Given the description of an element on the screen output the (x, y) to click on. 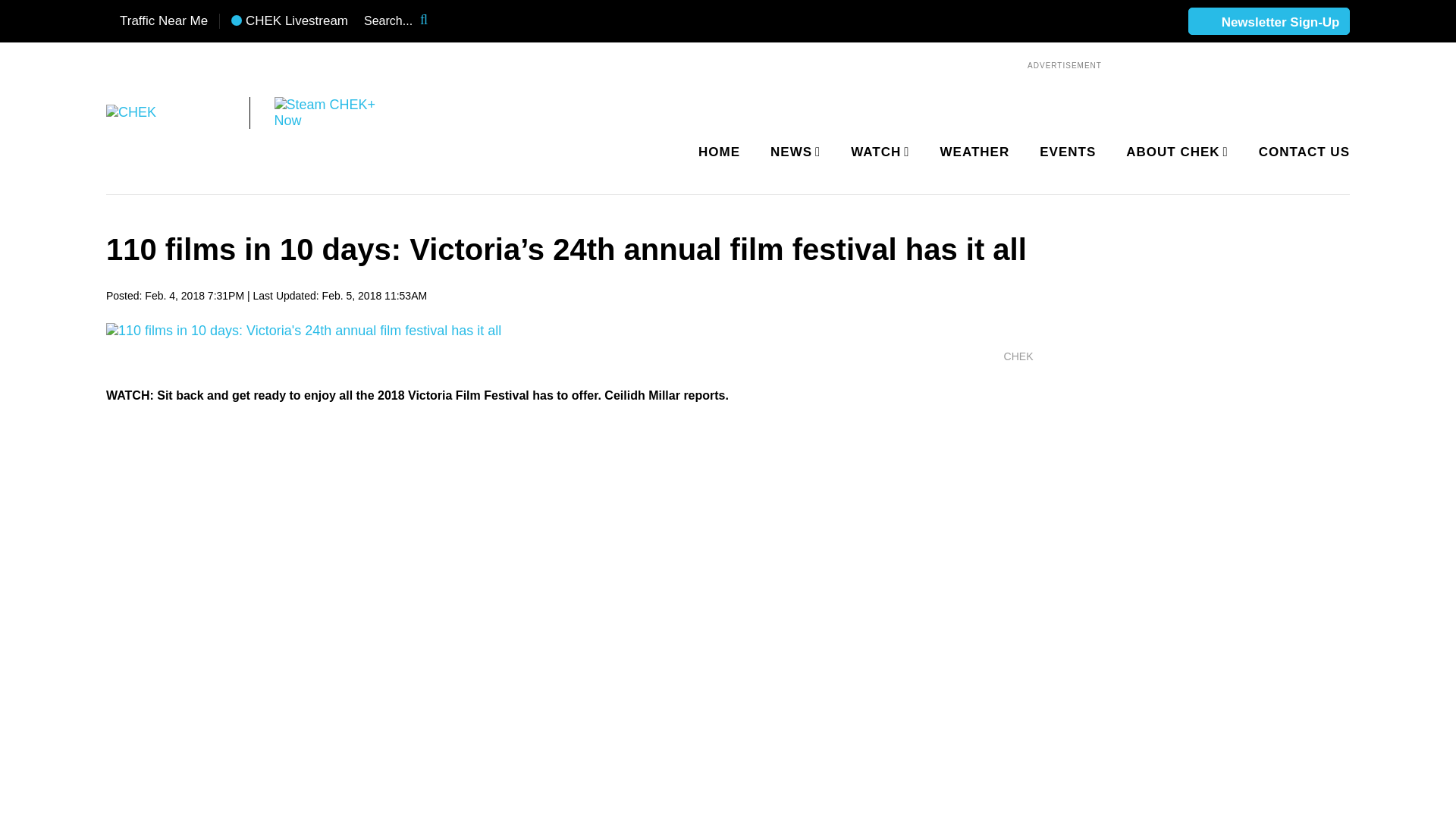
Traffic Near Me (157, 20)
Newsletter Sign-Up (1268, 22)
HOME (718, 152)
Search (434, 21)
CHEK Livestream (289, 20)
NEWS (792, 152)
